Given the description of an element on the screen output the (x, y) to click on. 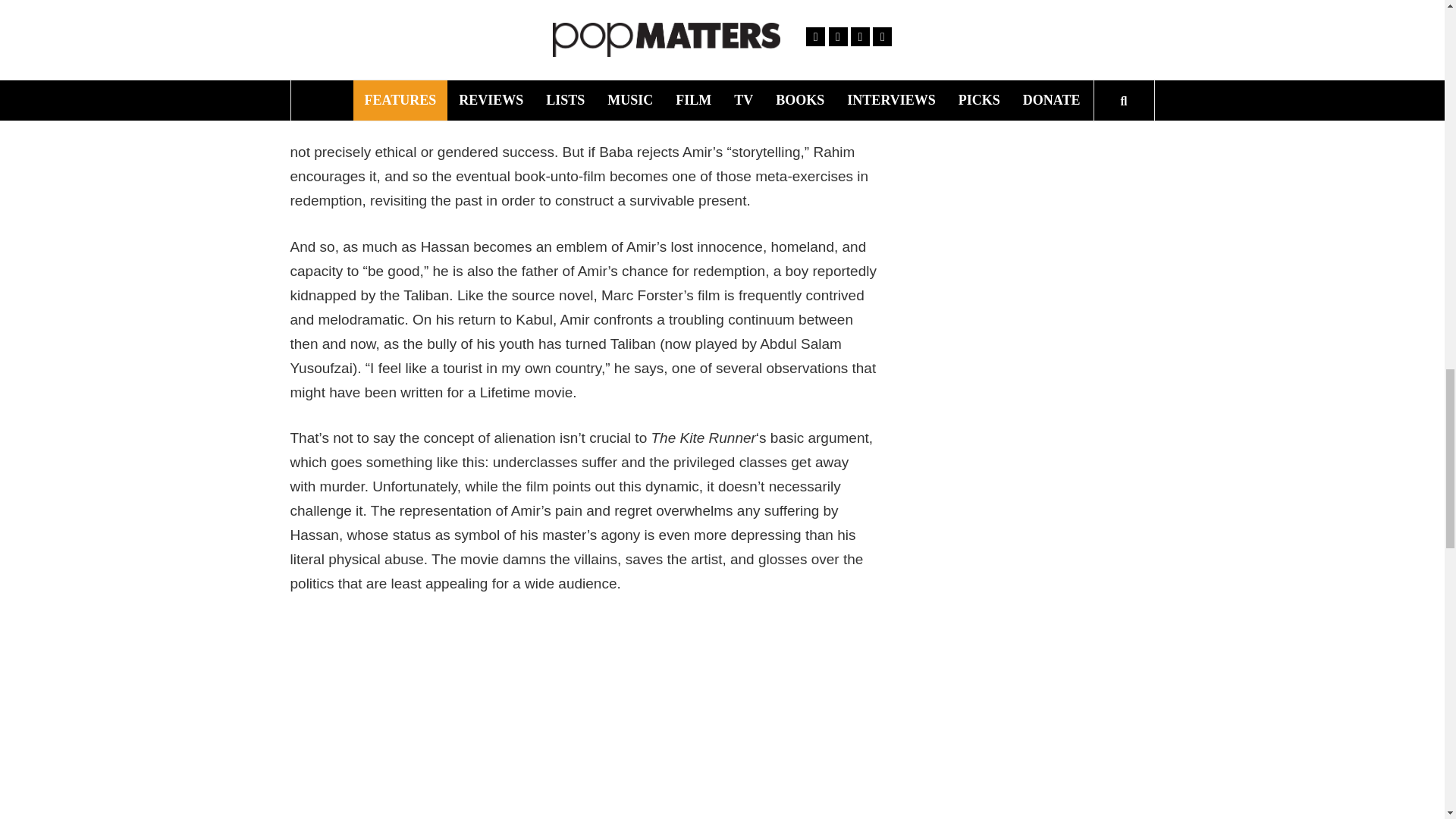
PopMatters Staff (1055, 51)
